Given the description of an element on the screen output the (x, y) to click on. 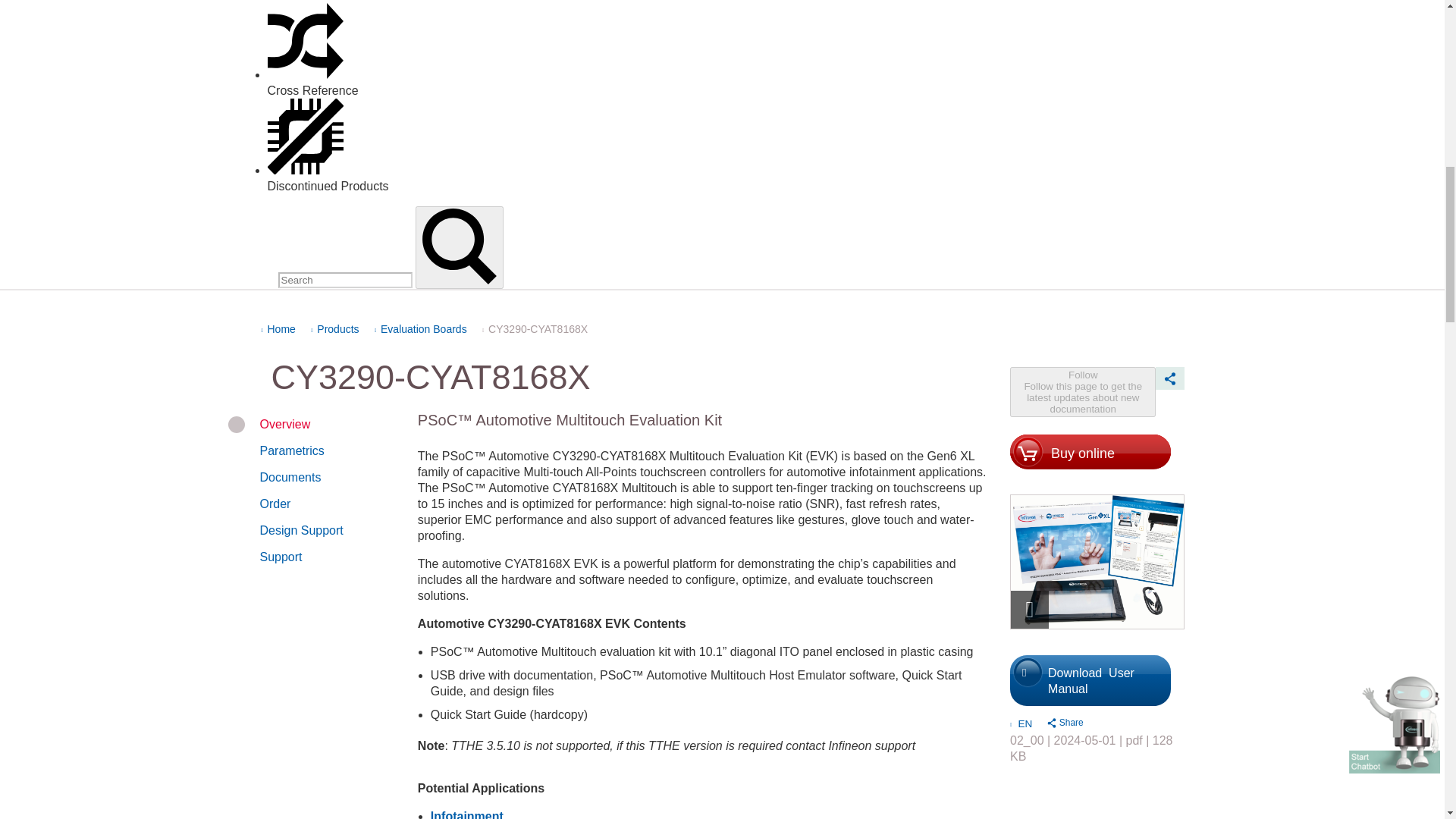
for myInfineon users only (1097, 692)
